Given the description of an element on the screen output the (x, y) to click on. 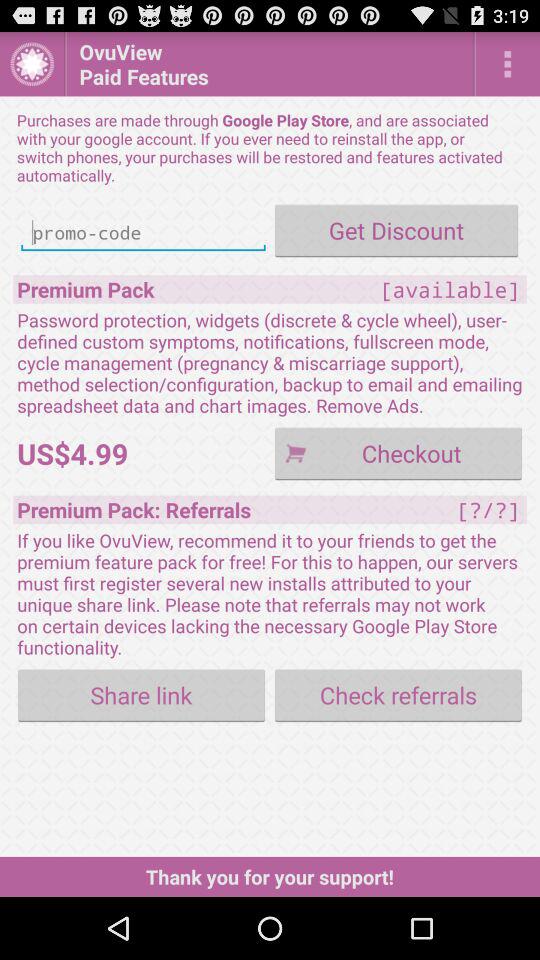
enter promo code (143, 232)
